Given the description of an element on the screen output the (x, y) to click on. 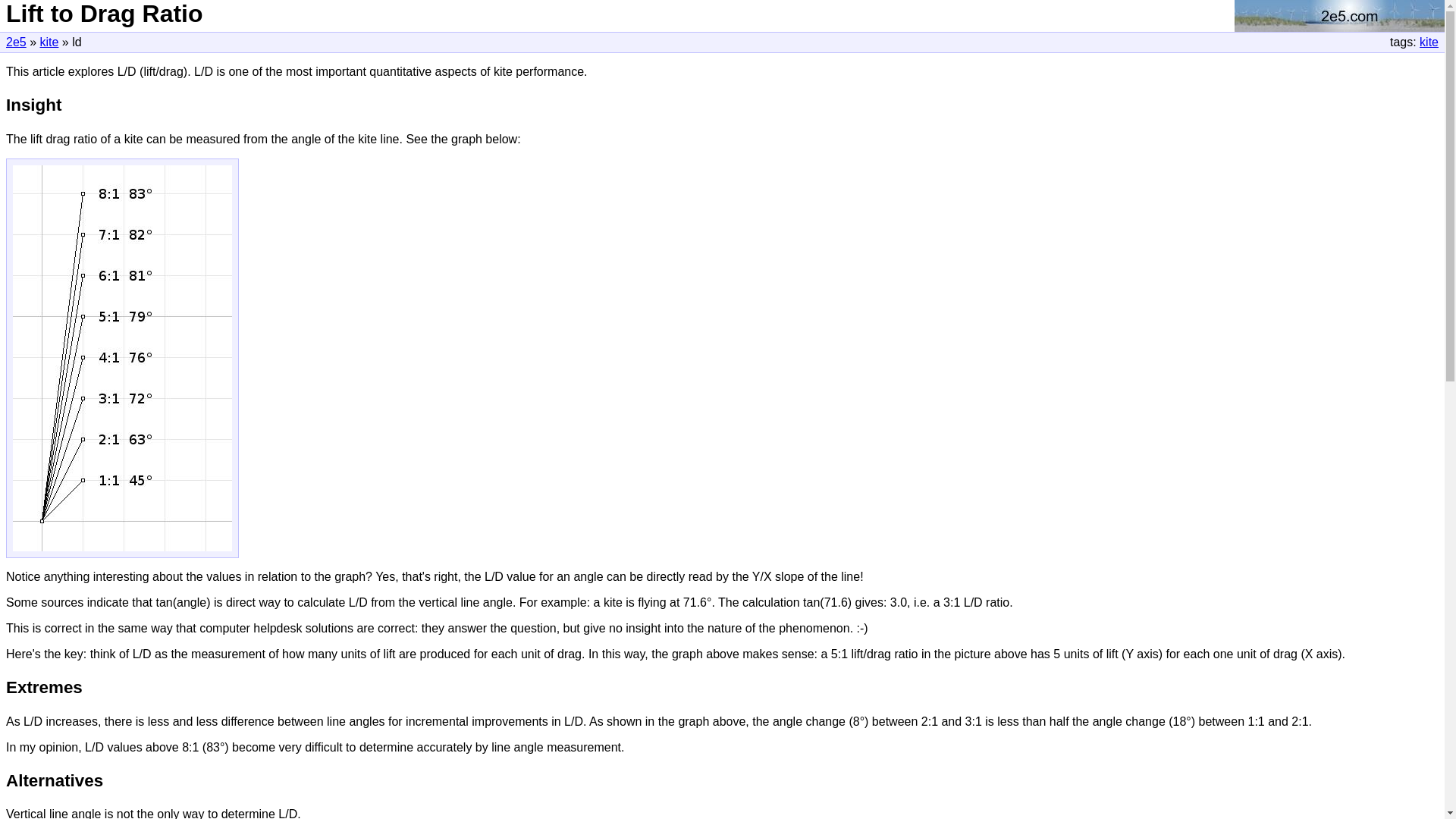
2e5 Element type: text (16, 41)
kite Element type: text (1428, 41)
kite Element type: text (48, 41)
